Given the description of an element on the screen output the (x, y) to click on. 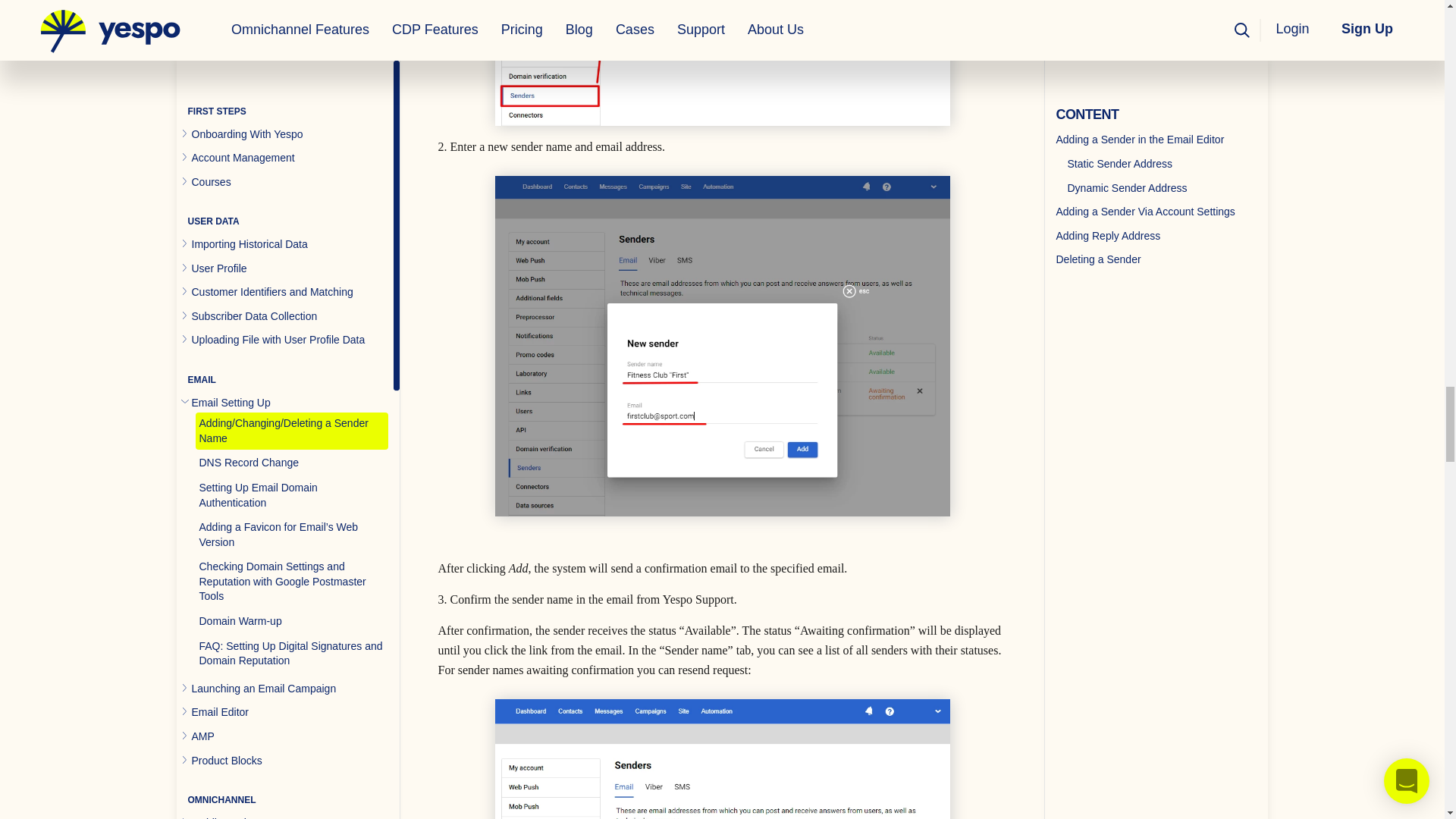
Status (722, 759)
Adding a sender via account settings (722, 63)
